Given the description of an element on the screen output the (x, y) to click on. 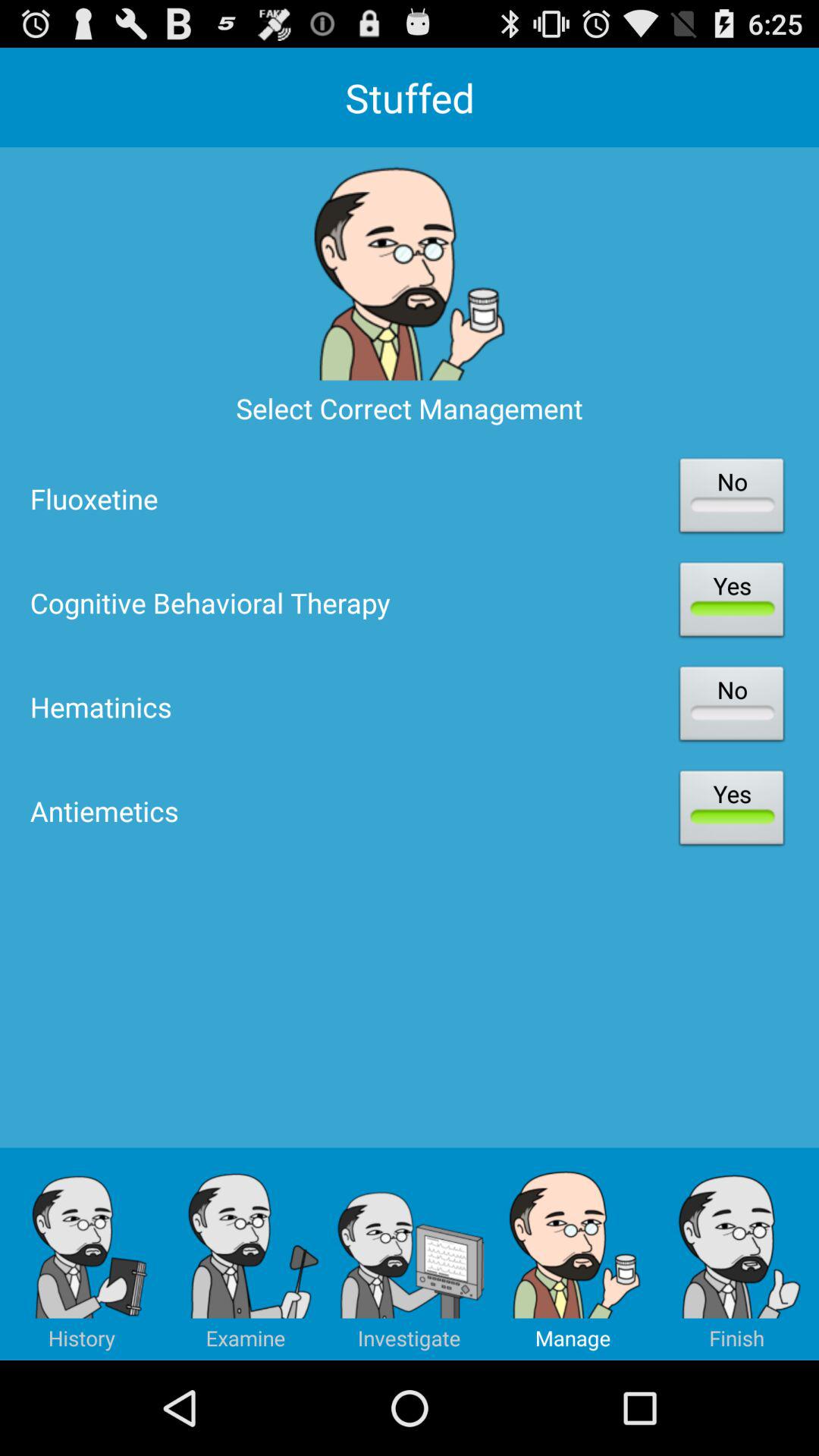
select icon below the antiemetics item (245, 1253)
